Given the description of an element on the screen output the (x, y) to click on. 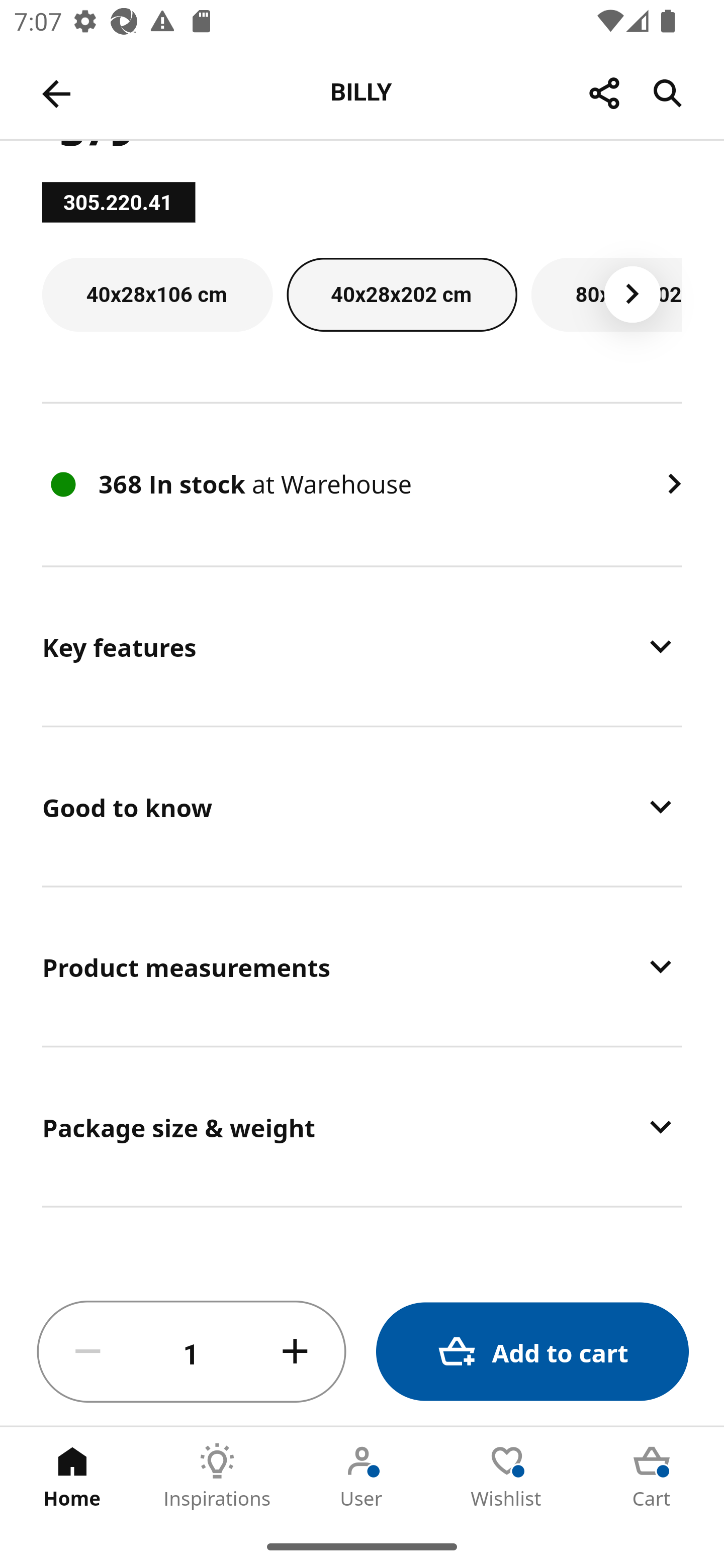
40x28x106 cm (156, 294)
40x28x202 cm (402, 294)
368 In stock at Warehouse (361, 484)
Key features (361, 646)
Good to know (361, 806)
Product measurements (361, 966)
Package size & weight (361, 1126)
Add to cart (531, 1352)
1 (191, 1352)
Home
Tab 1 of 5 (72, 1476)
Inspirations
Tab 2 of 5 (216, 1476)
User
Tab 3 of 5 (361, 1476)
Wishlist
Tab 4 of 5 (506, 1476)
Cart
Tab 5 of 5 (651, 1476)
